Given the description of an element on the screen output the (x, y) to click on. 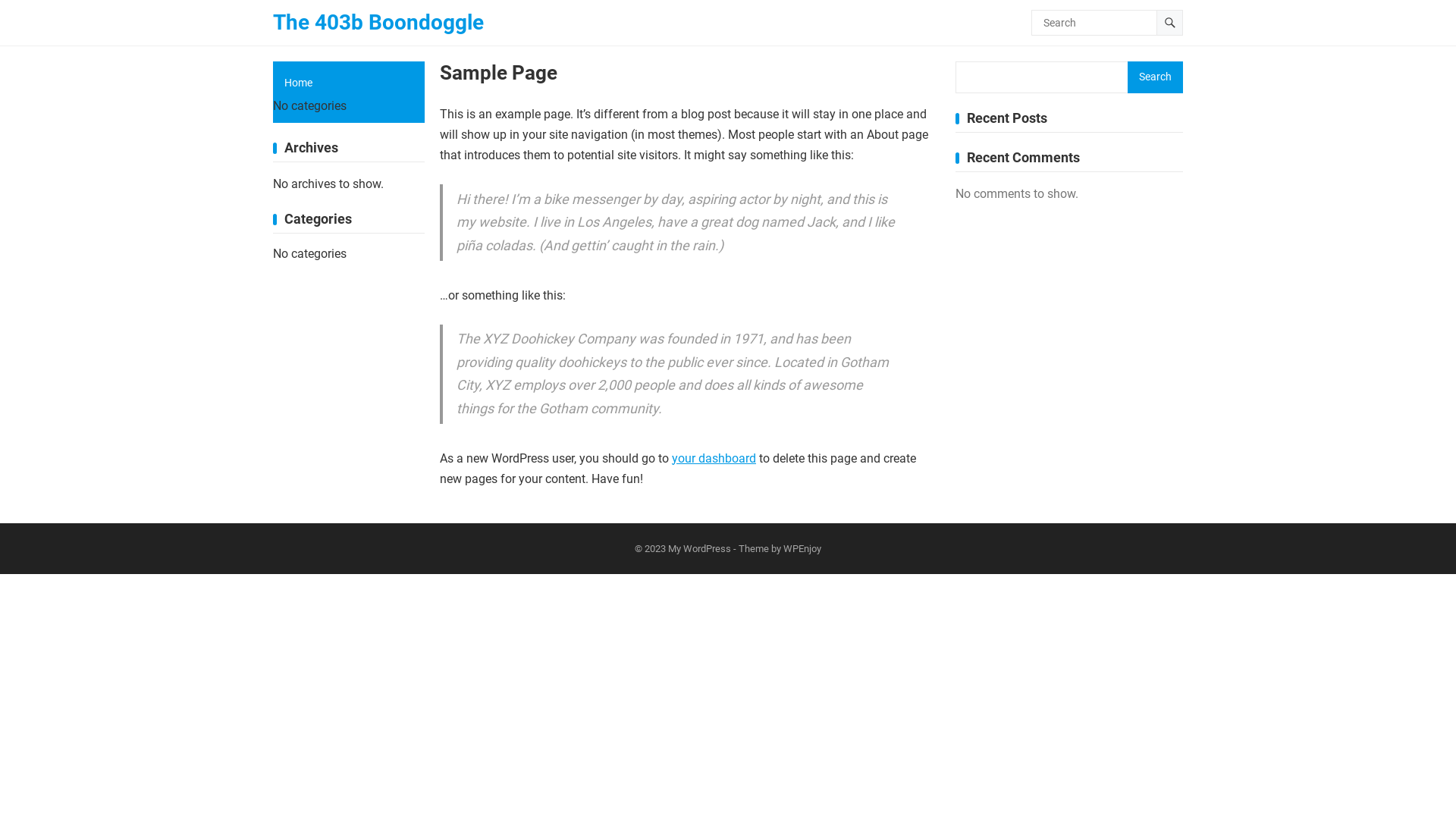
Search Element type: text (1155, 77)
Home Element type: text (348, 83)
The 403b Boondoggle Element type: text (378, 22)
your dashboard Element type: text (713, 458)
My WordPress Element type: text (699, 548)
WPEnjoy Element type: text (802, 548)
